Given the description of an element on the screen output the (x, y) to click on. 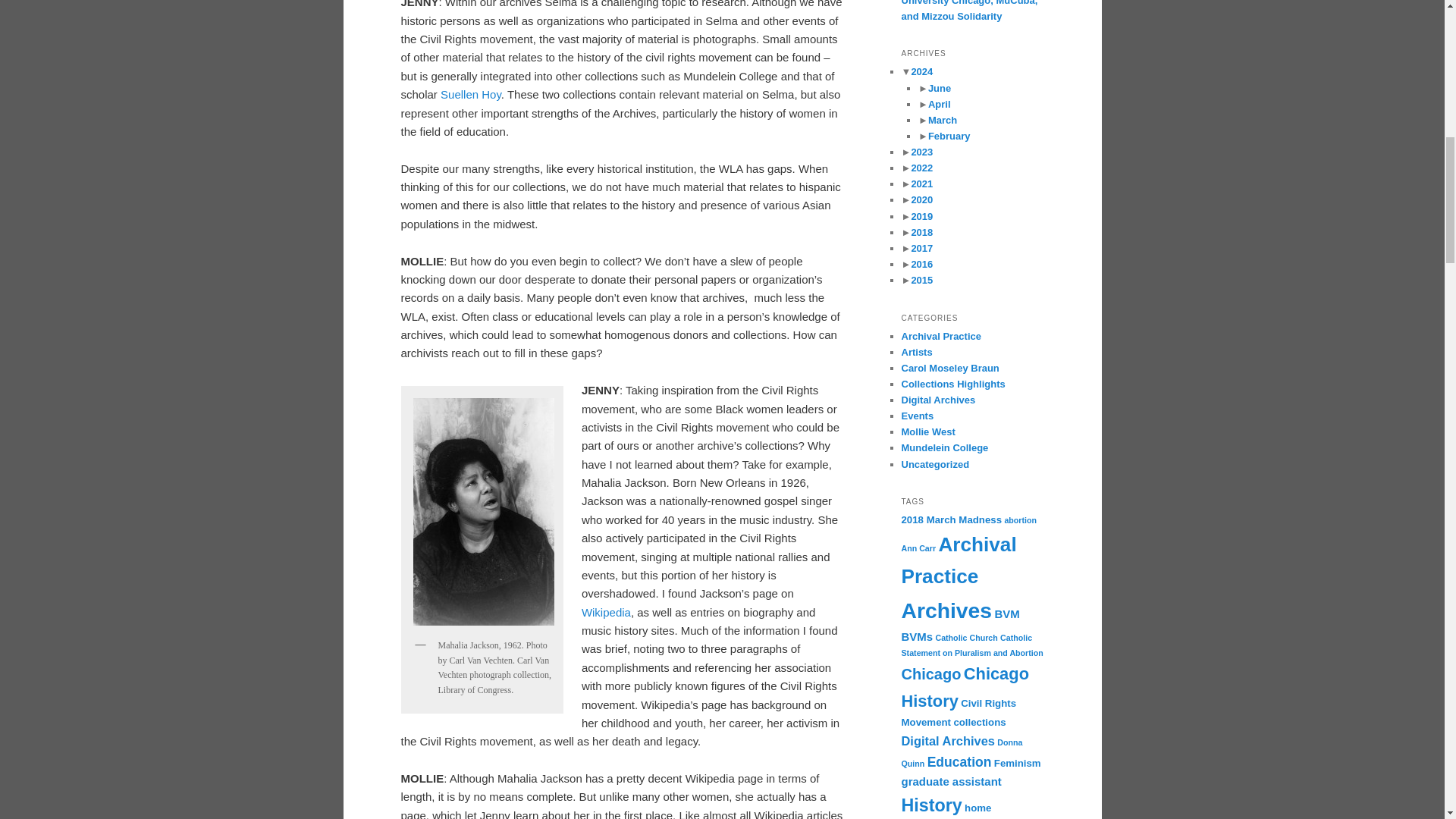
click to collapse (917, 71)
Wikipedia (605, 612)
click to expand (934, 103)
click to expand (937, 120)
click to expand (934, 87)
Suellen Hoy (470, 93)
